Given the description of an element on the screen output the (x, y) to click on. 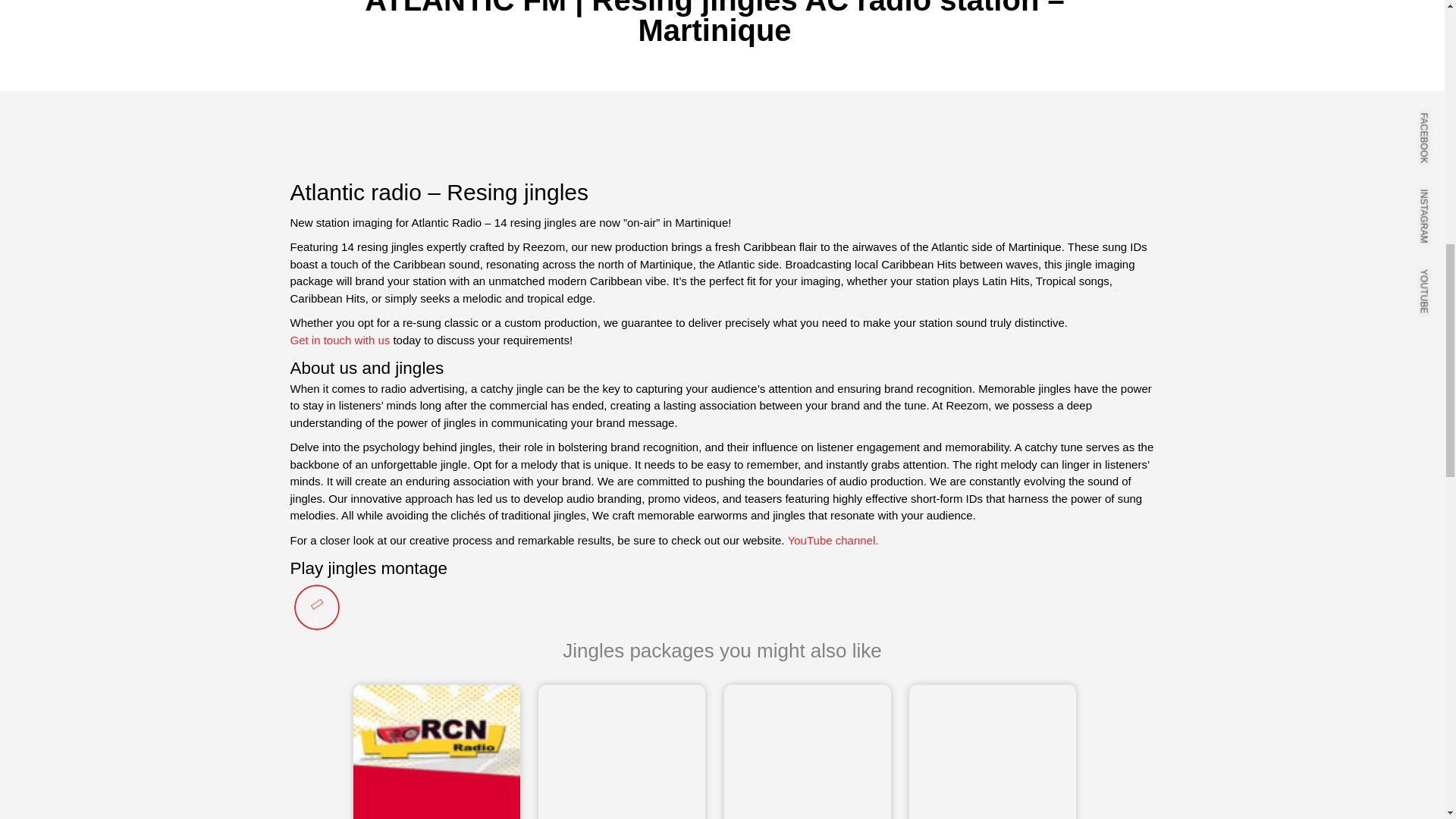
YouTube channel. (833, 540)
Get in touch with us (339, 340)
